Given the description of an element on the screen output the (x, y) to click on. 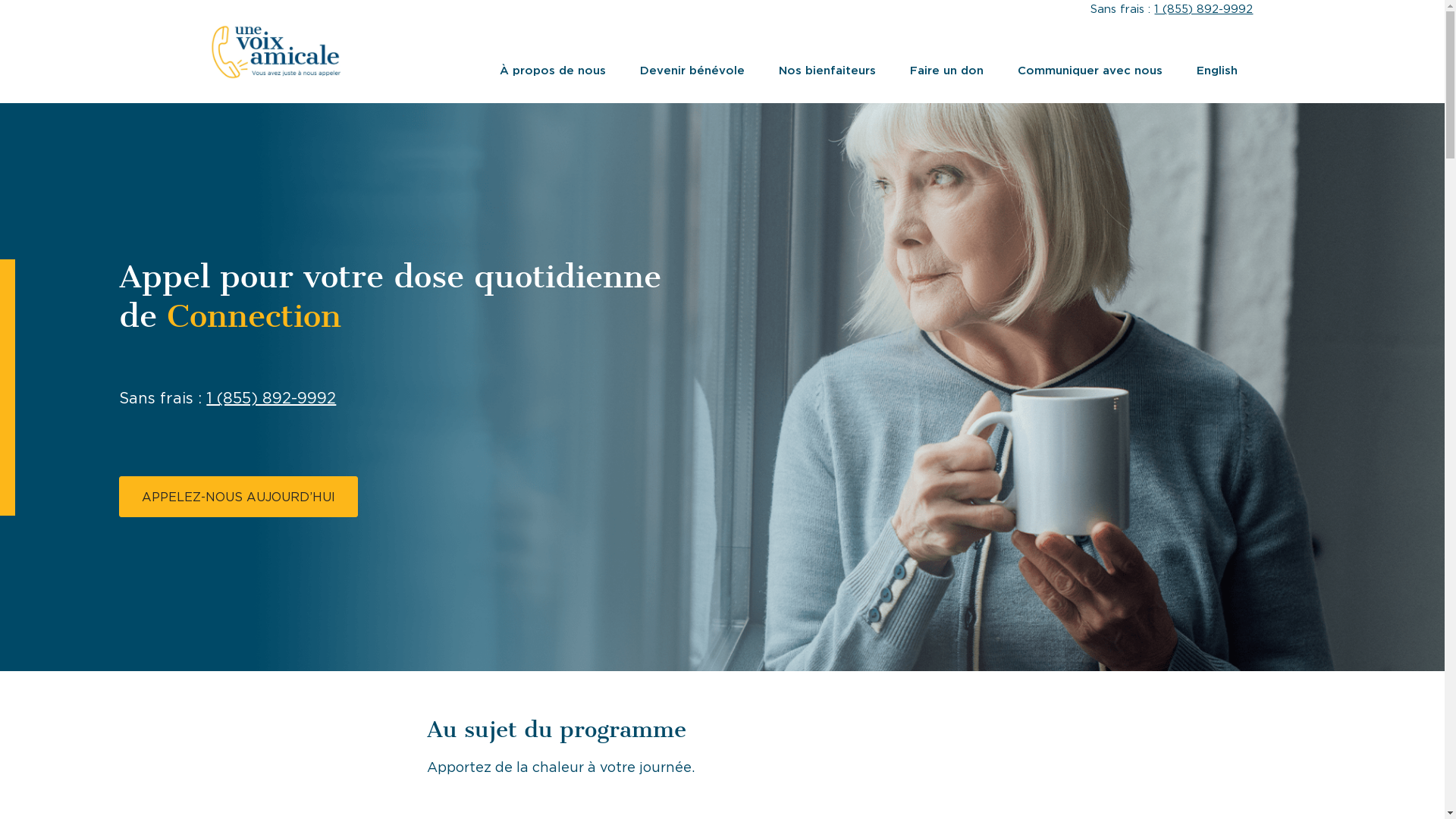
1 (855) 892-9992 Element type: text (1203, 8)
Communiquer avec nous Element type: text (1089, 70)
Nos bienfaiteurs Element type: text (827, 70)
English Element type: text (1216, 70)
Faire un don Element type: text (946, 70)
Sans frais : 1 (855) 892-9992 Element type: text (227, 397)
